Given the description of an element on the screen output the (x, y) to click on. 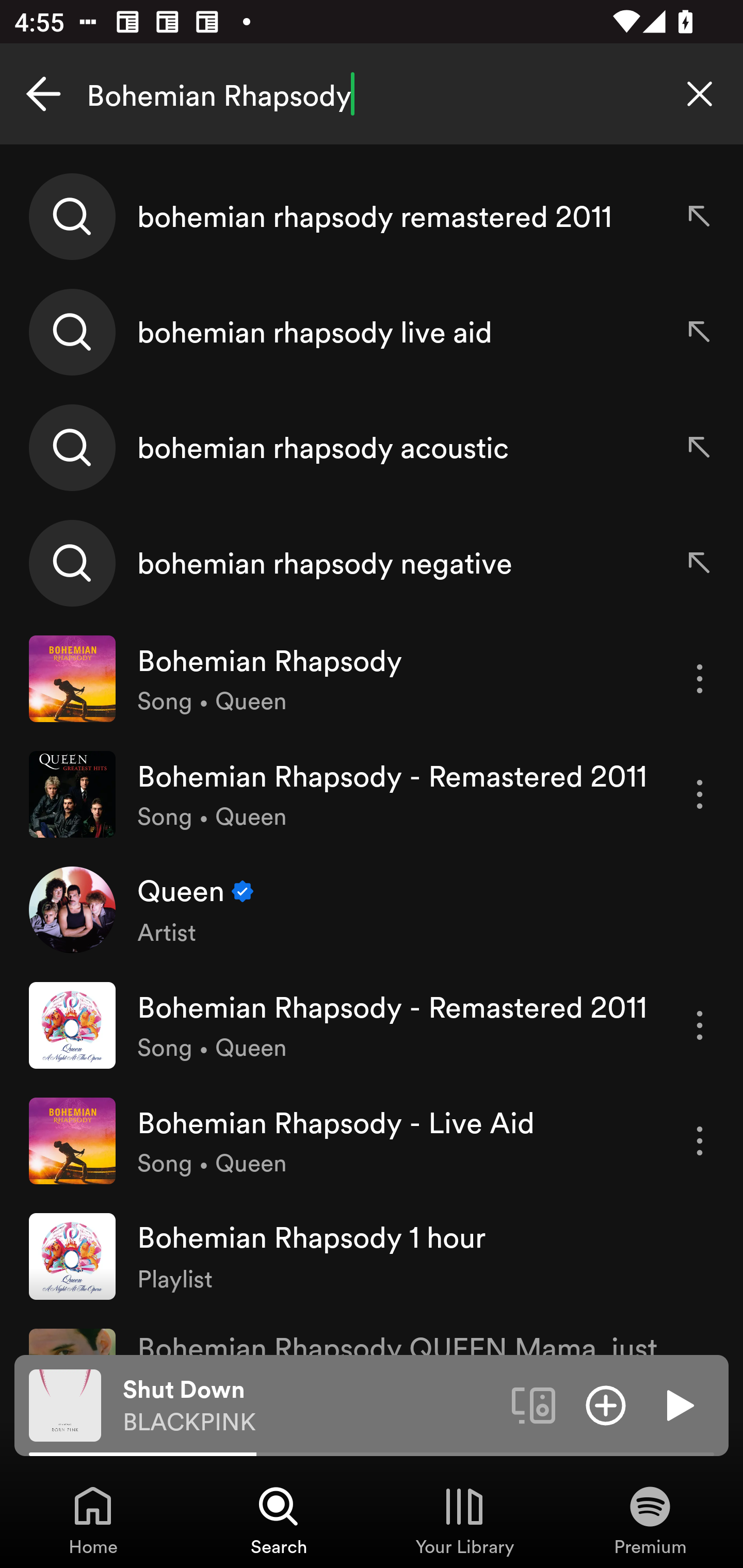
Bohemian Rhapsody (371, 93)
Cancel (43, 93)
Clear search query (699, 93)
bohemian rhapsody remastered 2011 (371, 216)
bohemian rhapsody live aid (371, 332)
bohemian rhapsody acoustic (371, 447)
bohemian rhapsody negative (371, 562)
More options for song Bohemian Rhapsody (699, 678)
Queen Verified Artist (371, 909)
More options for song Bohemian Rhapsody - Live Aid (699, 1140)
Bohemian Rhapsody 1 hour Playlist (371, 1255)
Shut Down BLACKPINK (309, 1405)
The cover art of the currently playing track (64, 1404)
Connect to a device. Opens the devices menu (533, 1404)
Add item (605, 1404)
Play (677, 1404)
Home, Tab 1 of 4 Home Home (92, 1519)
Search, Tab 2 of 4 Search Search (278, 1519)
Your Library, Tab 3 of 4 Your Library Your Library (464, 1519)
Premium, Tab 4 of 4 Premium Premium (650, 1519)
